Given the description of an element on the screen output the (x, y) to click on. 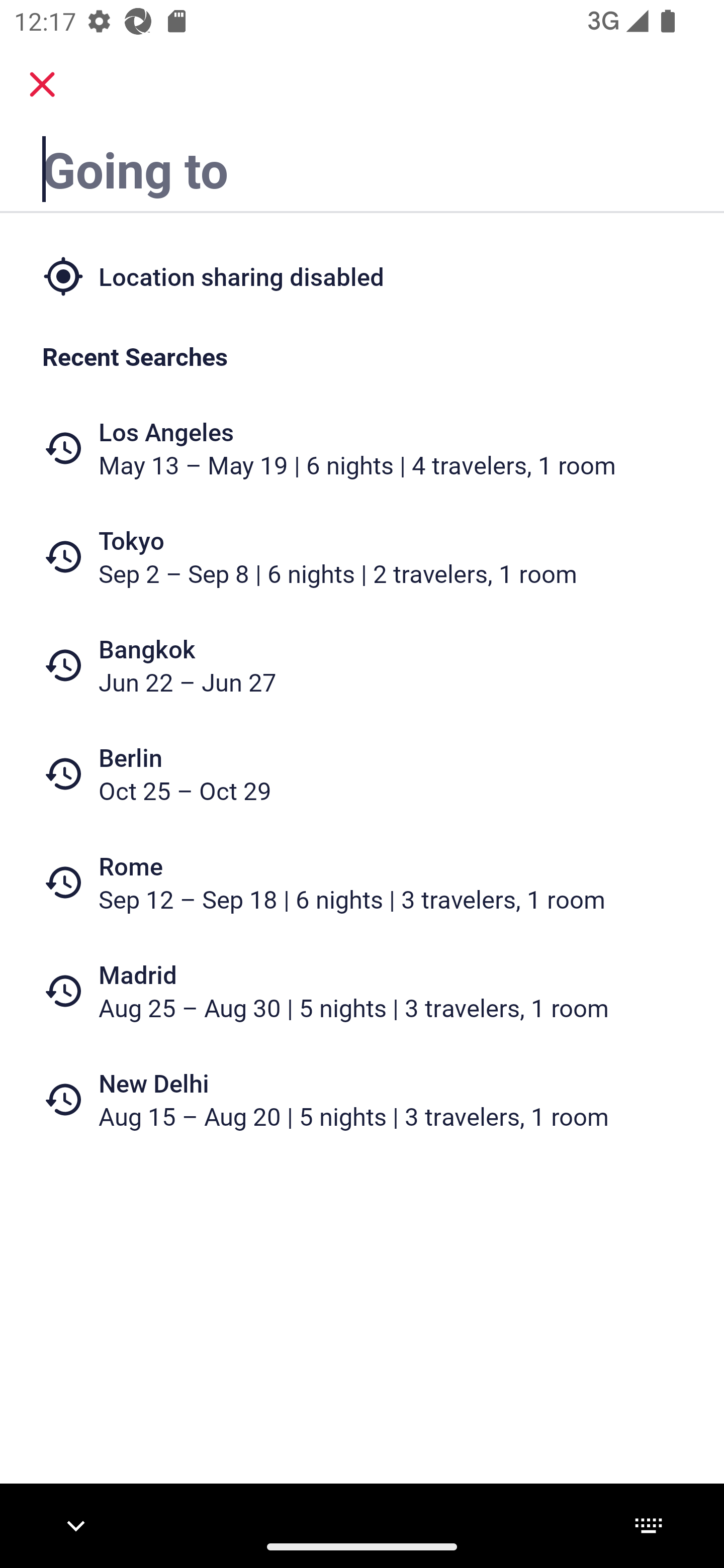
close. (42, 84)
Location sharing disabled (362, 275)
Bangkok Jun 22 – Jun 27 (362, 665)
Berlin Oct 25 – Oct 29 (362, 773)
